Given the description of an element on the screen output the (x, y) to click on. 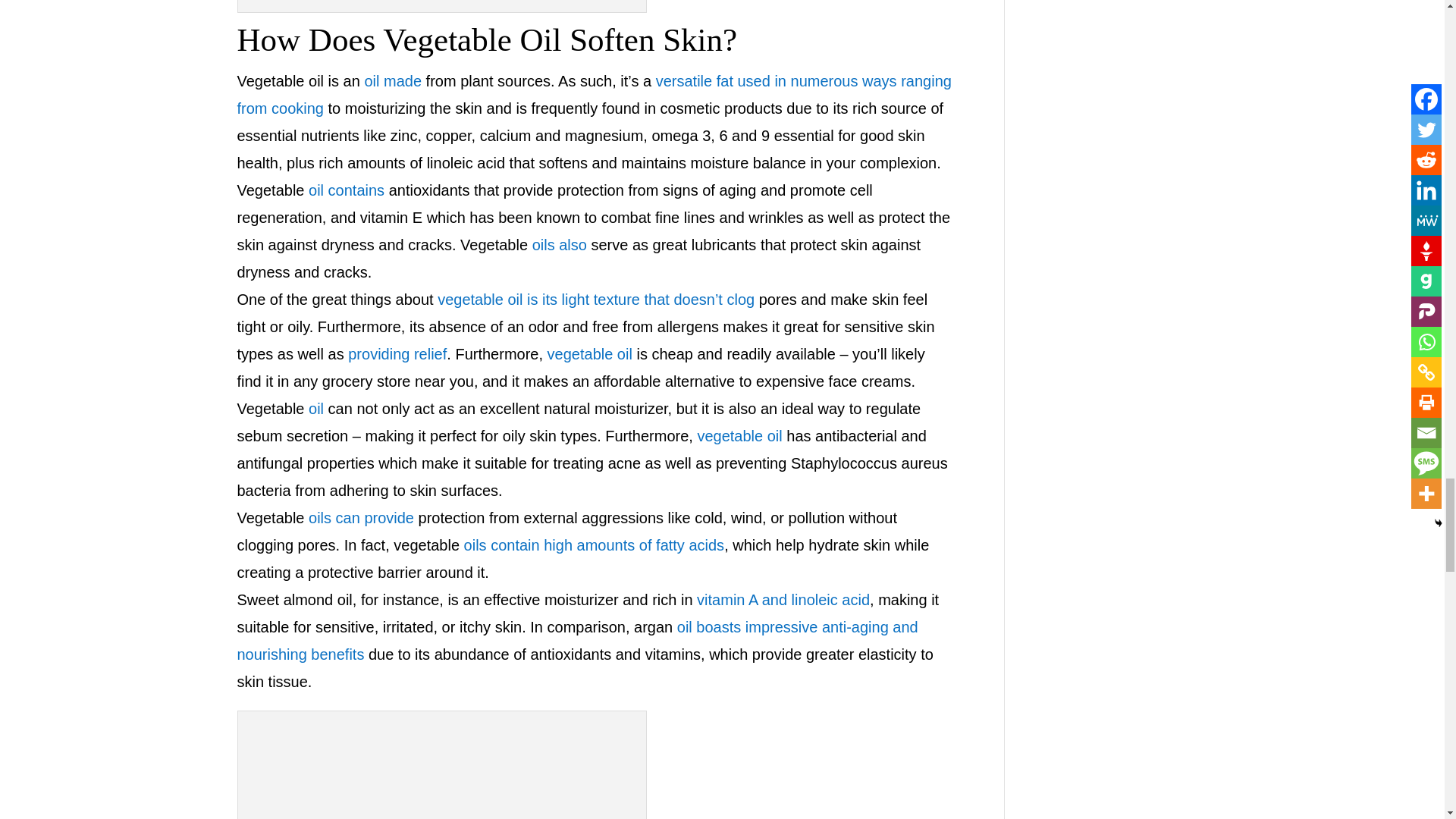
How Does Vegetable Oil Soften Skin? (442, 768)
